Given the description of an element on the screen output the (x, y) to click on. 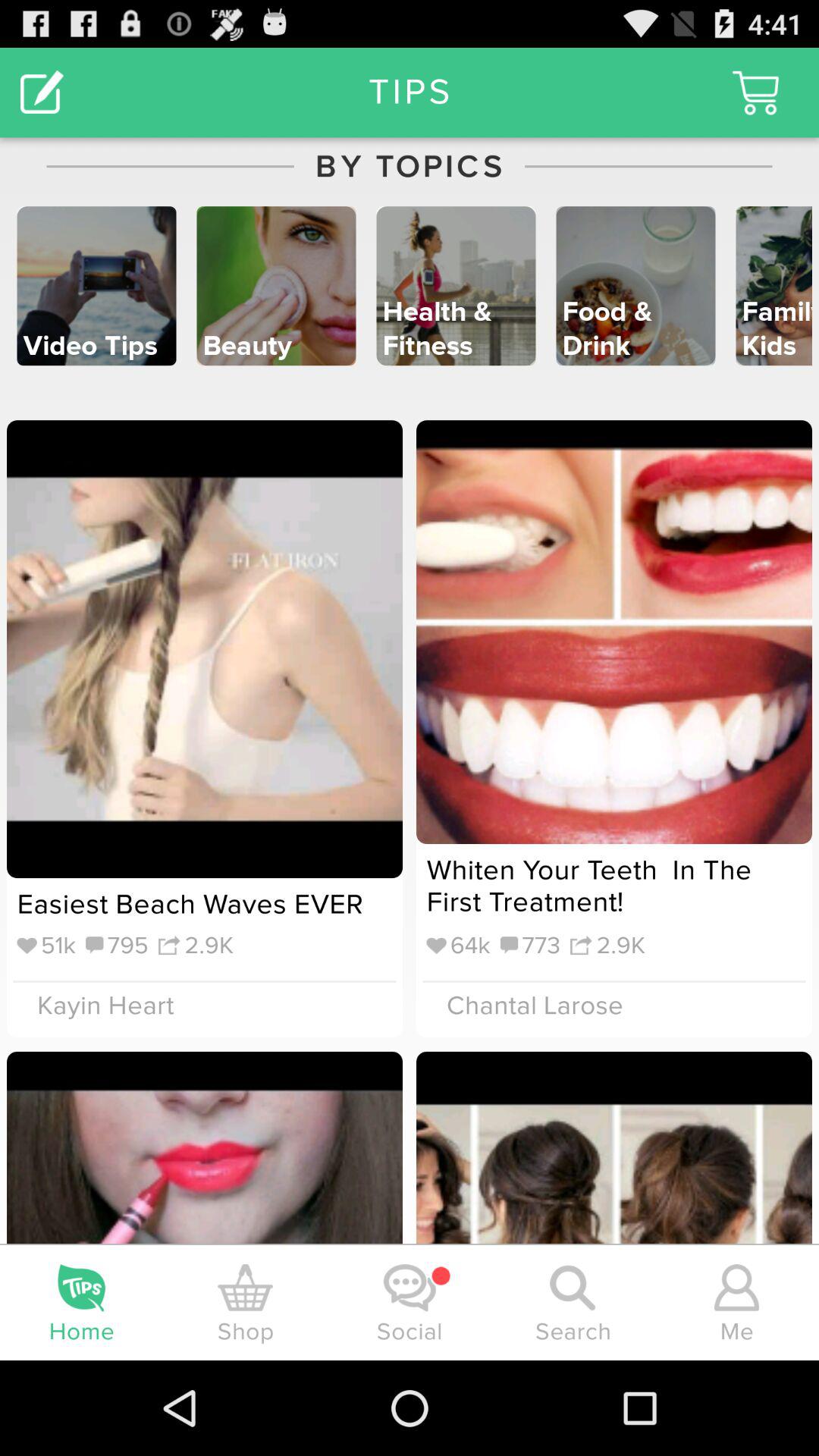
go to cart (755, 92)
